Given the description of an element on the screen output the (x, y) to click on. 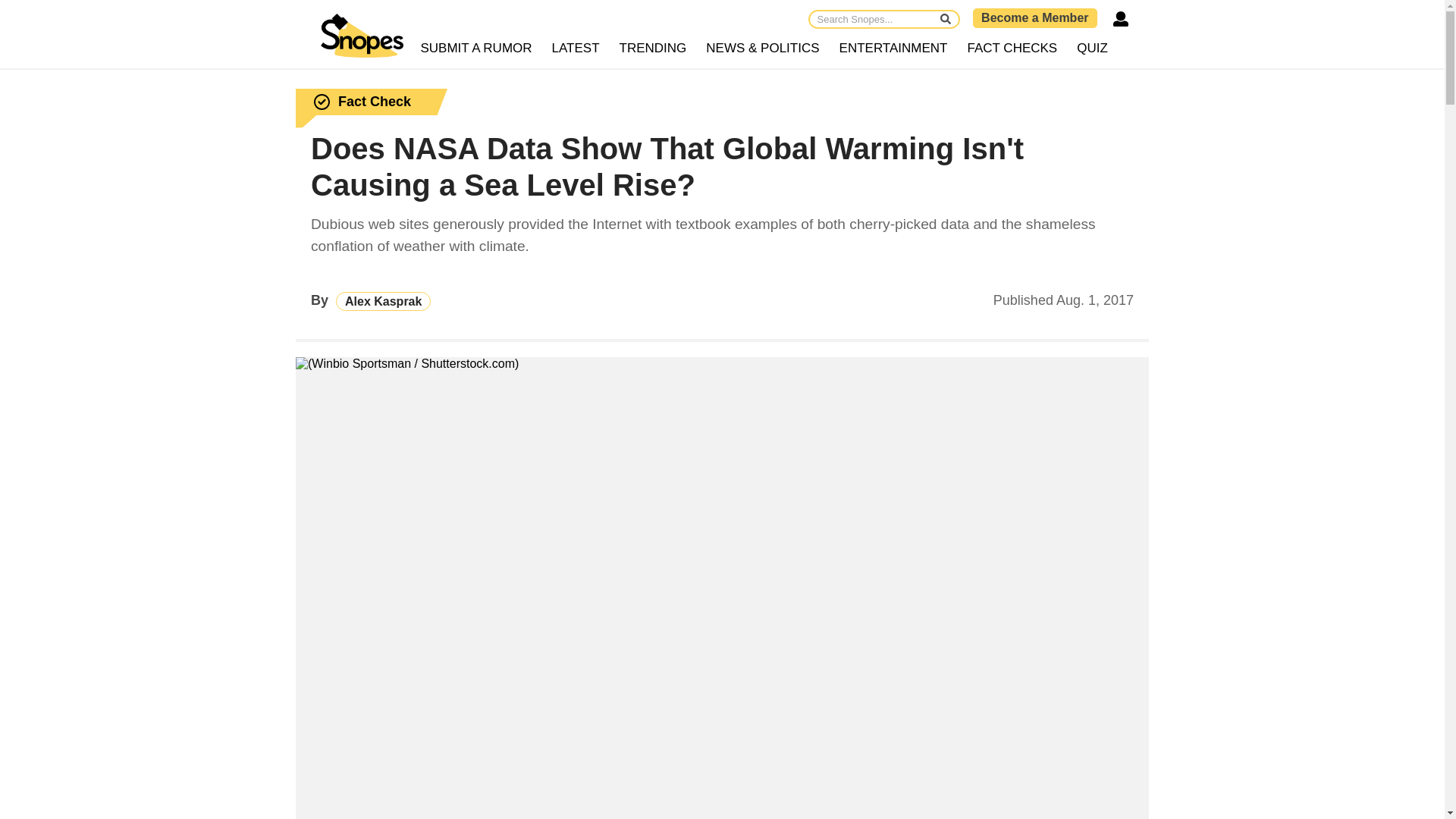
Alex Kasprak (383, 301)
TRENDING (653, 47)
LATEST (576, 47)
SUBMIT A RUMOR (475, 47)
Become a Member (1034, 17)
FACT CHECKS (1011, 47)
ENTERTAINMENT (893, 47)
QUIZ (1092, 47)
